Given the description of an element on the screen output the (x, y) to click on. 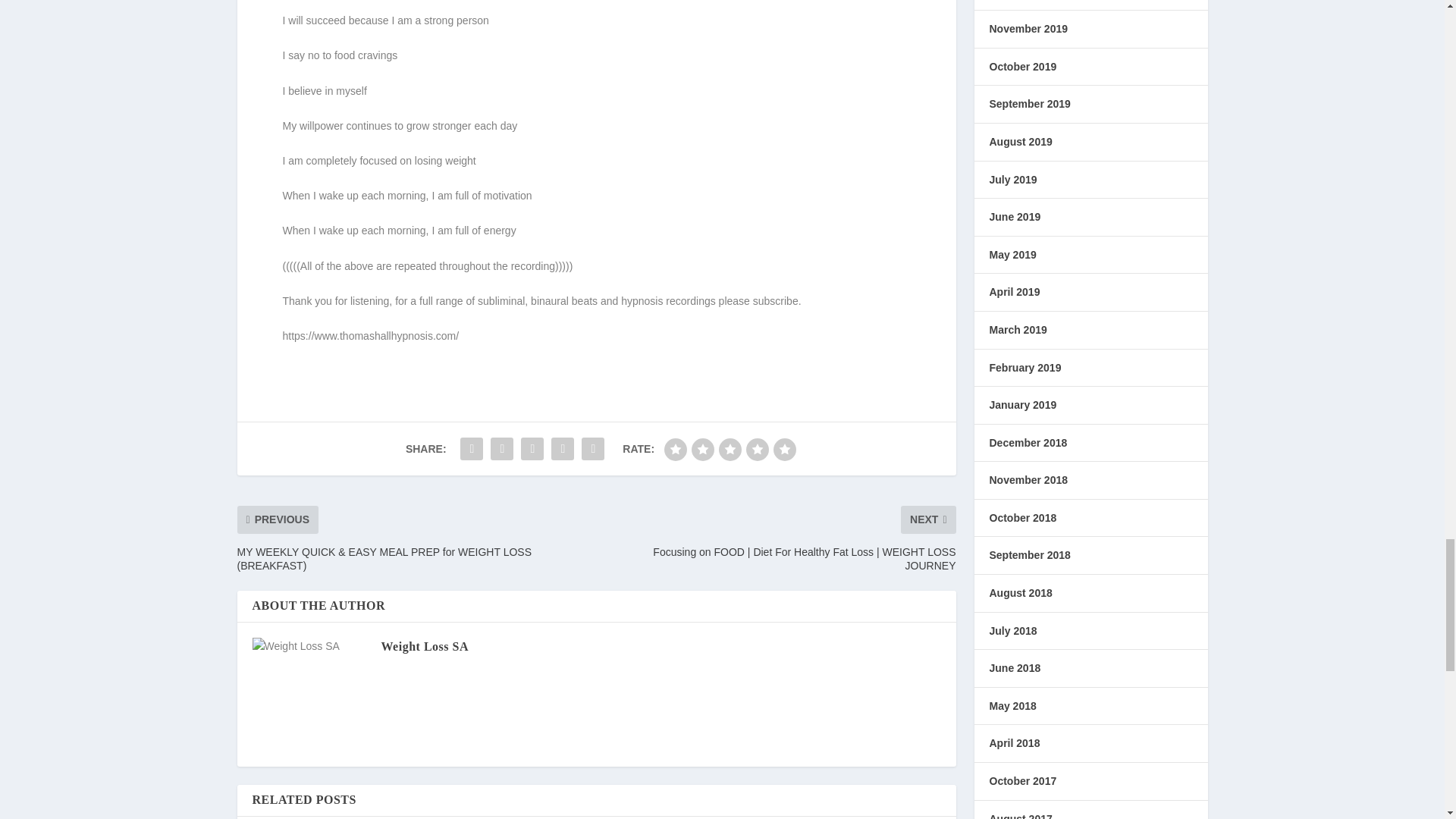
poor (702, 449)
good (756, 449)
bad (675, 449)
regular (730, 449)
gorgeous (784, 449)
